Given the description of an element on the screen output the (x, y) to click on. 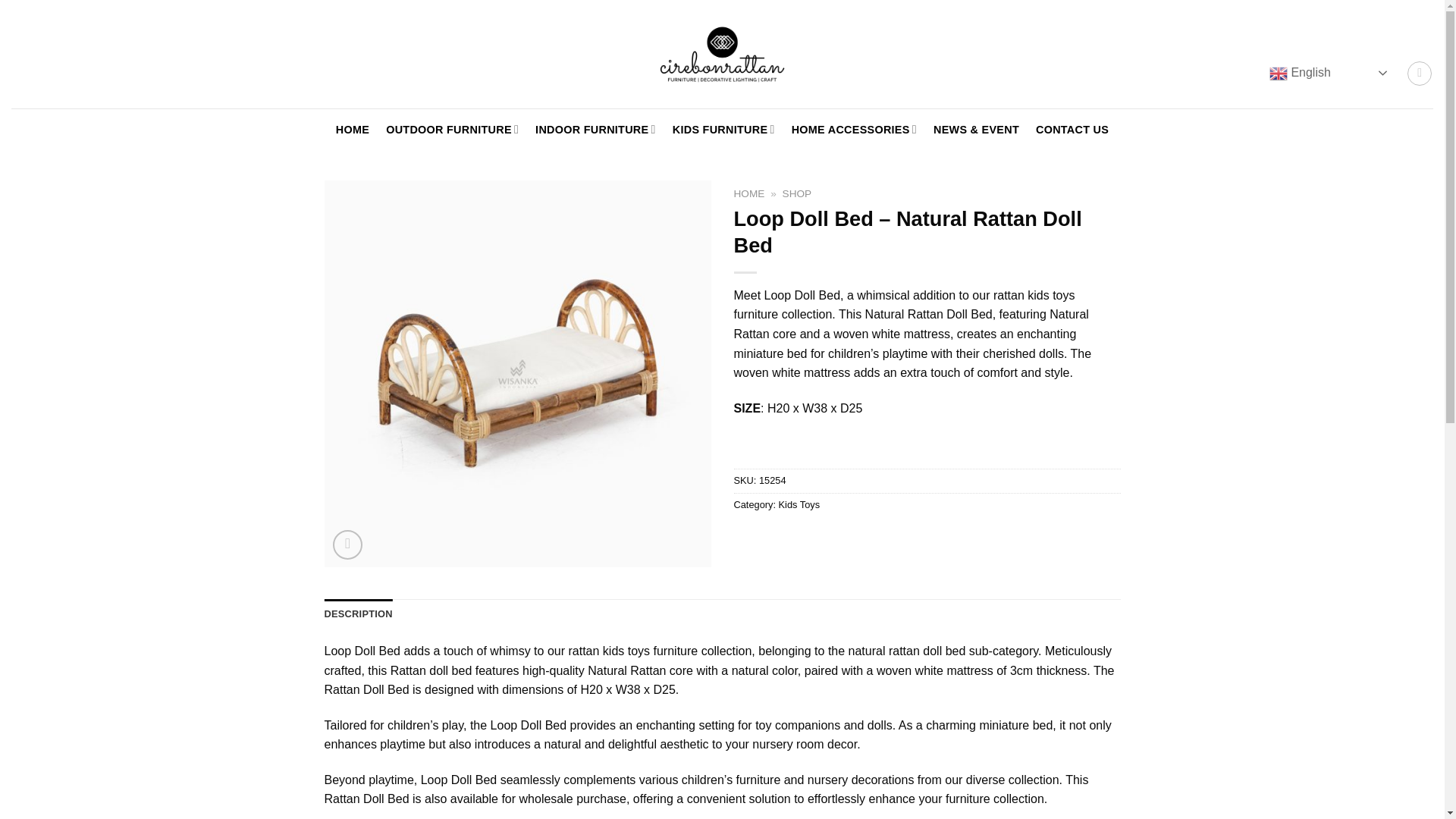
OUTDOOR FURNITURE (451, 129)
HOME (352, 129)
English (1330, 72)
